Given the description of an element on the screen output the (x, y) to click on. 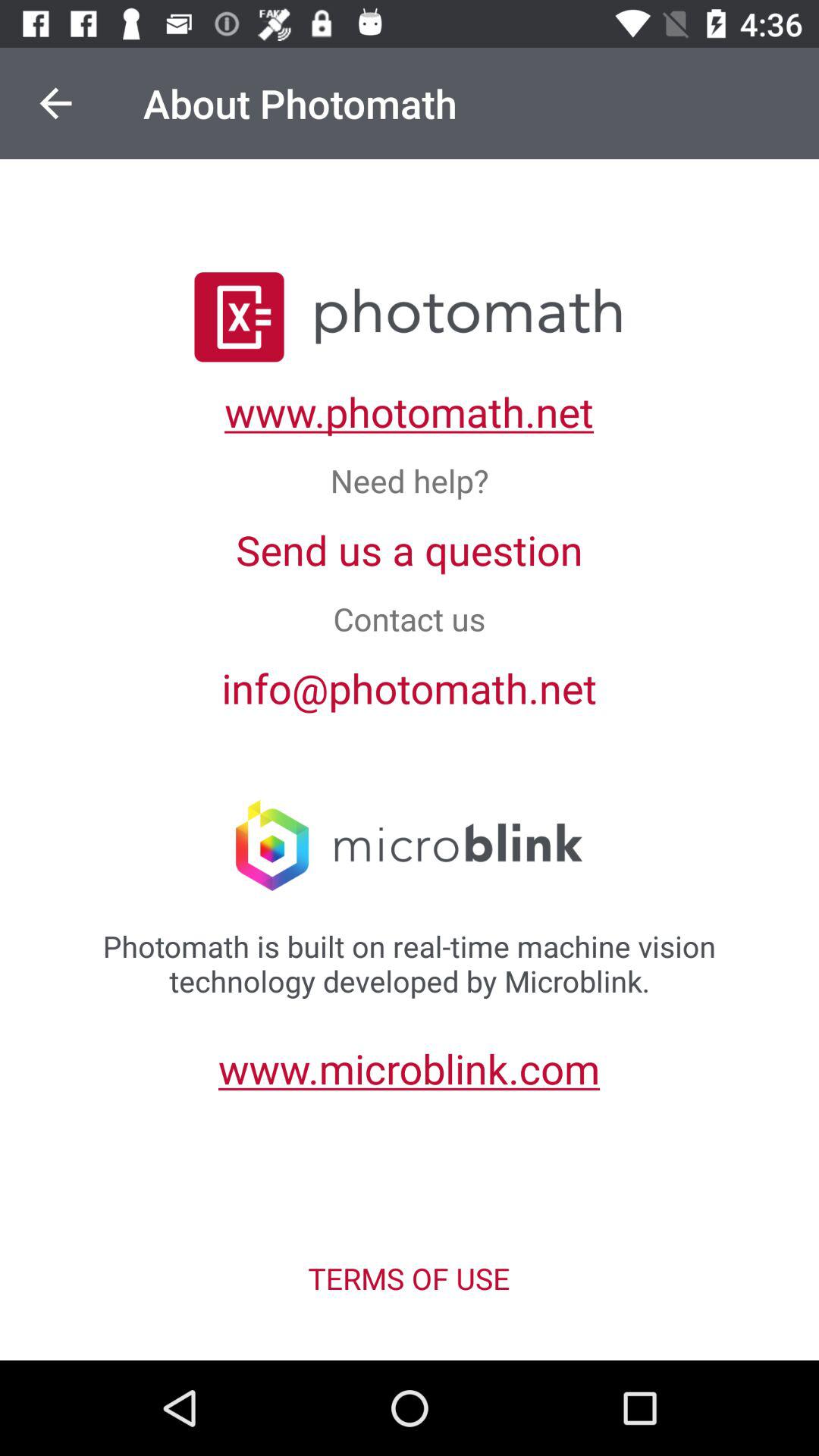
select item at the top left corner (55, 103)
